Given the description of an element on the screen output the (x, y) to click on. 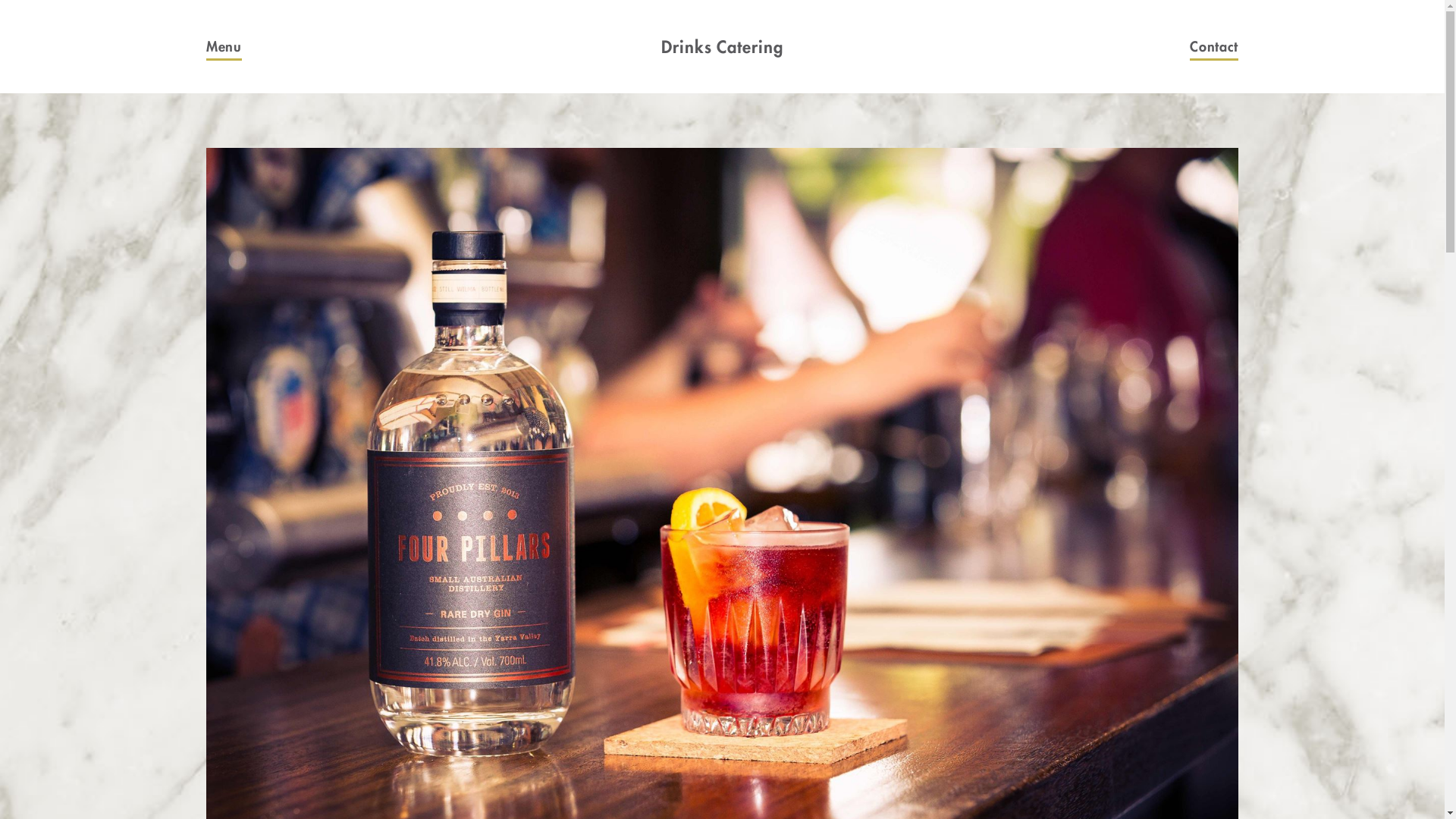
Contact Element type: text (1238, 46)
Drinks Catering Element type: text (722, 46)
Menu Element type: text (206, 46)
